Given the description of an element on the screen output the (x, y) to click on. 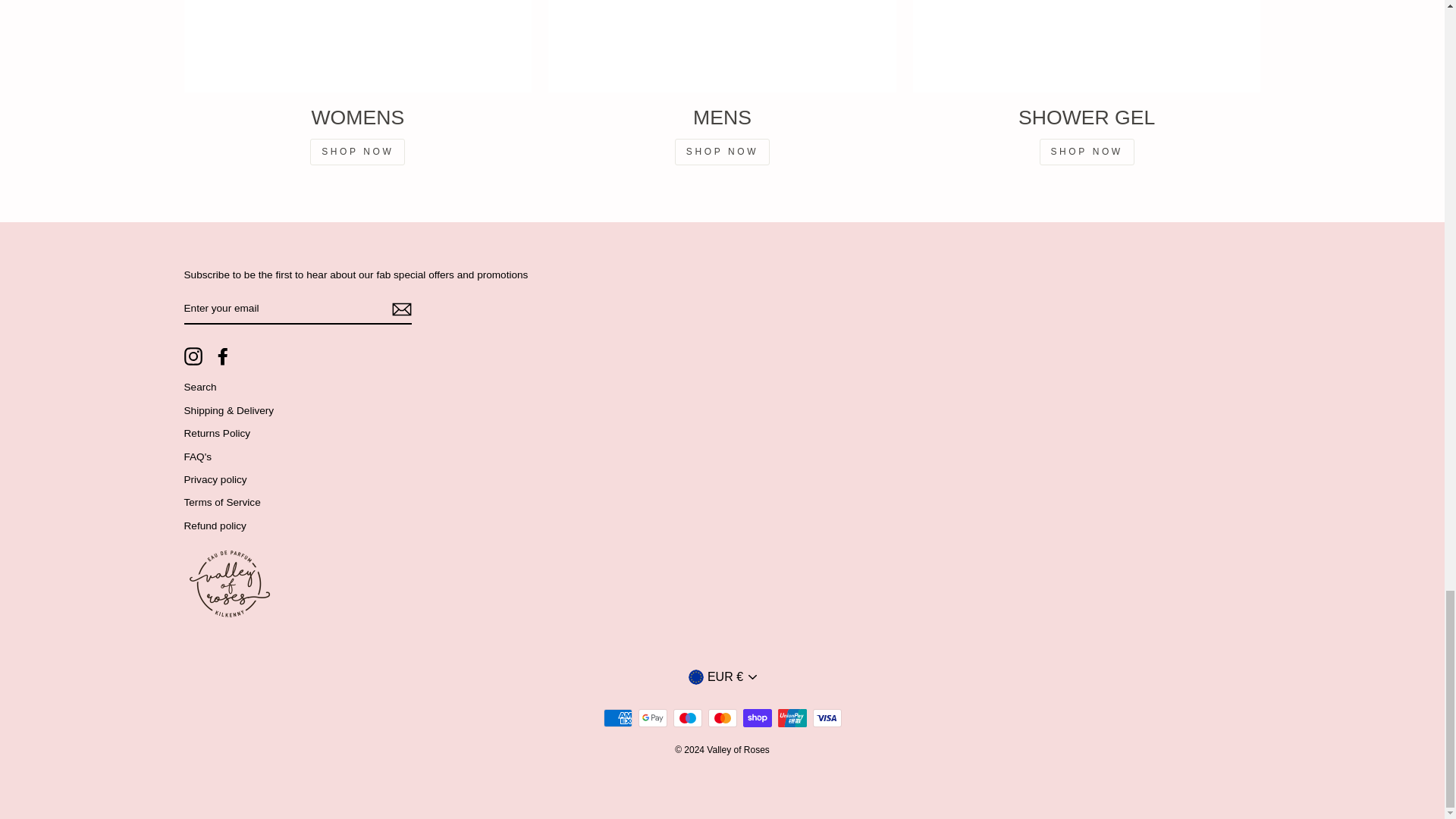
Valley of Roses on Instagram (192, 356)
Google Pay (652, 718)
Mastercard (721, 718)
Valley of Roses on Facebook (222, 356)
Shop Pay (756, 718)
Union Pay (791, 718)
Visa (826, 718)
American Express (617, 718)
Maestro (686, 718)
